Given the description of an element on the screen output the (x, y) to click on. 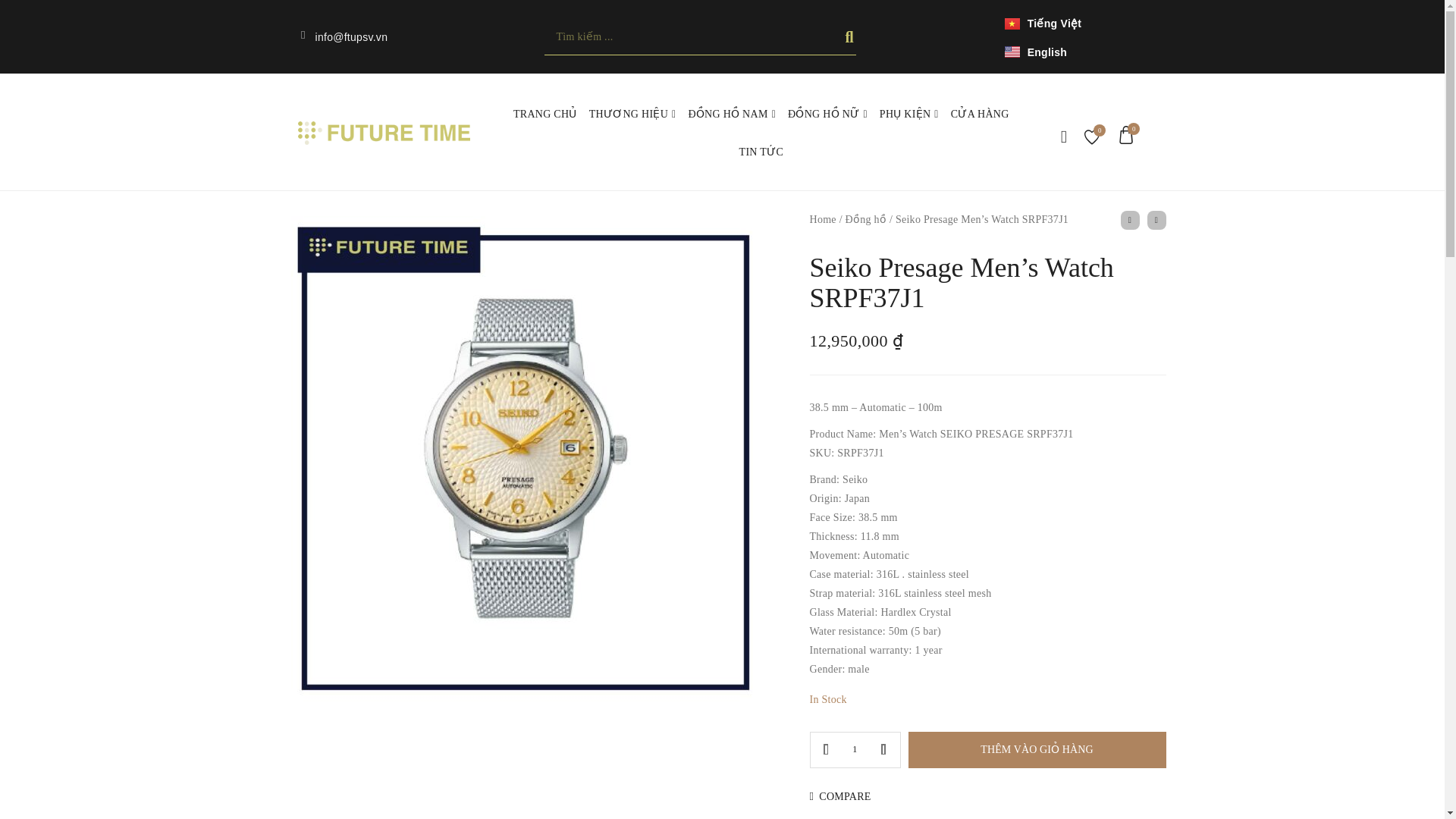
1 (855, 750)
i-wishlist (1091, 136)
English (1035, 50)
i-cart (1125, 135)
